Given the description of an element on the screen output the (x, y) to click on. 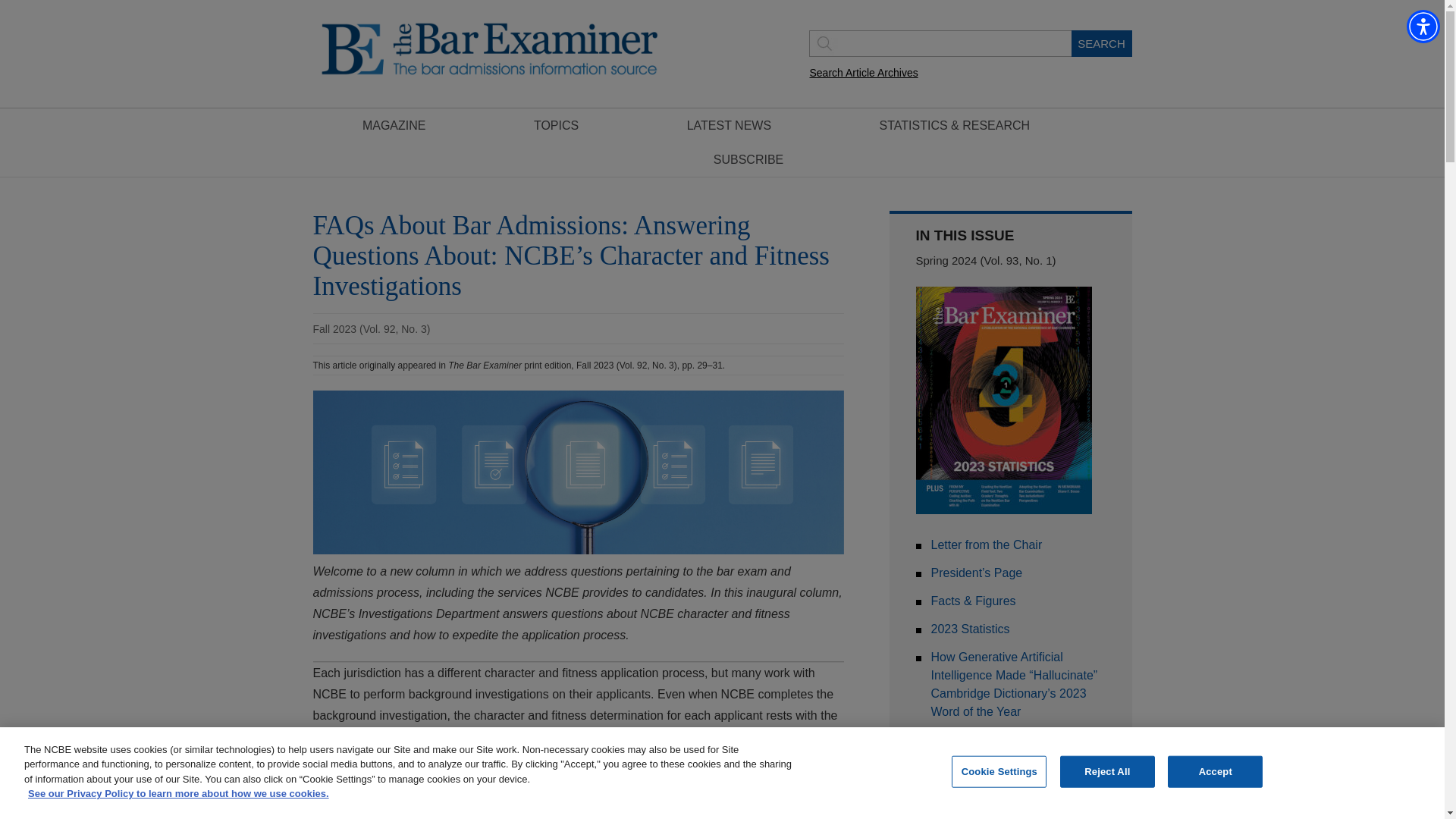
MAGAZINE (394, 125)
TOPICS (556, 125)
Search Article Archives (863, 72)
Accessibility Menu (1422, 26)
SUBSCRIBE (748, 159)
LATEST NEWS (729, 125)
Search (1100, 43)
Search (1100, 43)
